Given the description of an element on the screen output the (x, y) to click on. 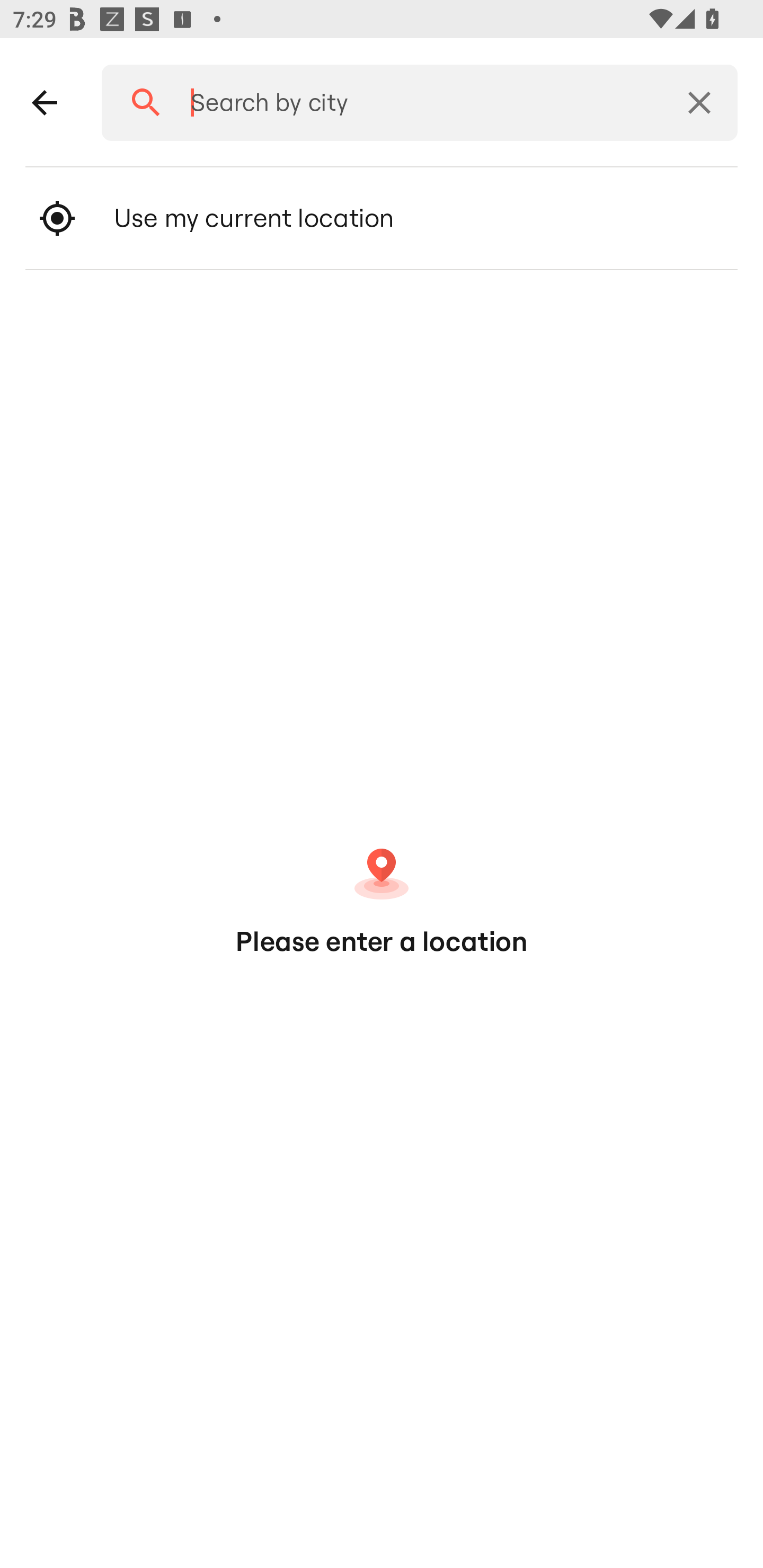
Back (44, 102)
Search by city (413, 102)
Clear (699, 102)
Use my current location (381, 218)
